Given the description of an element on the screen output the (x, y) to click on. 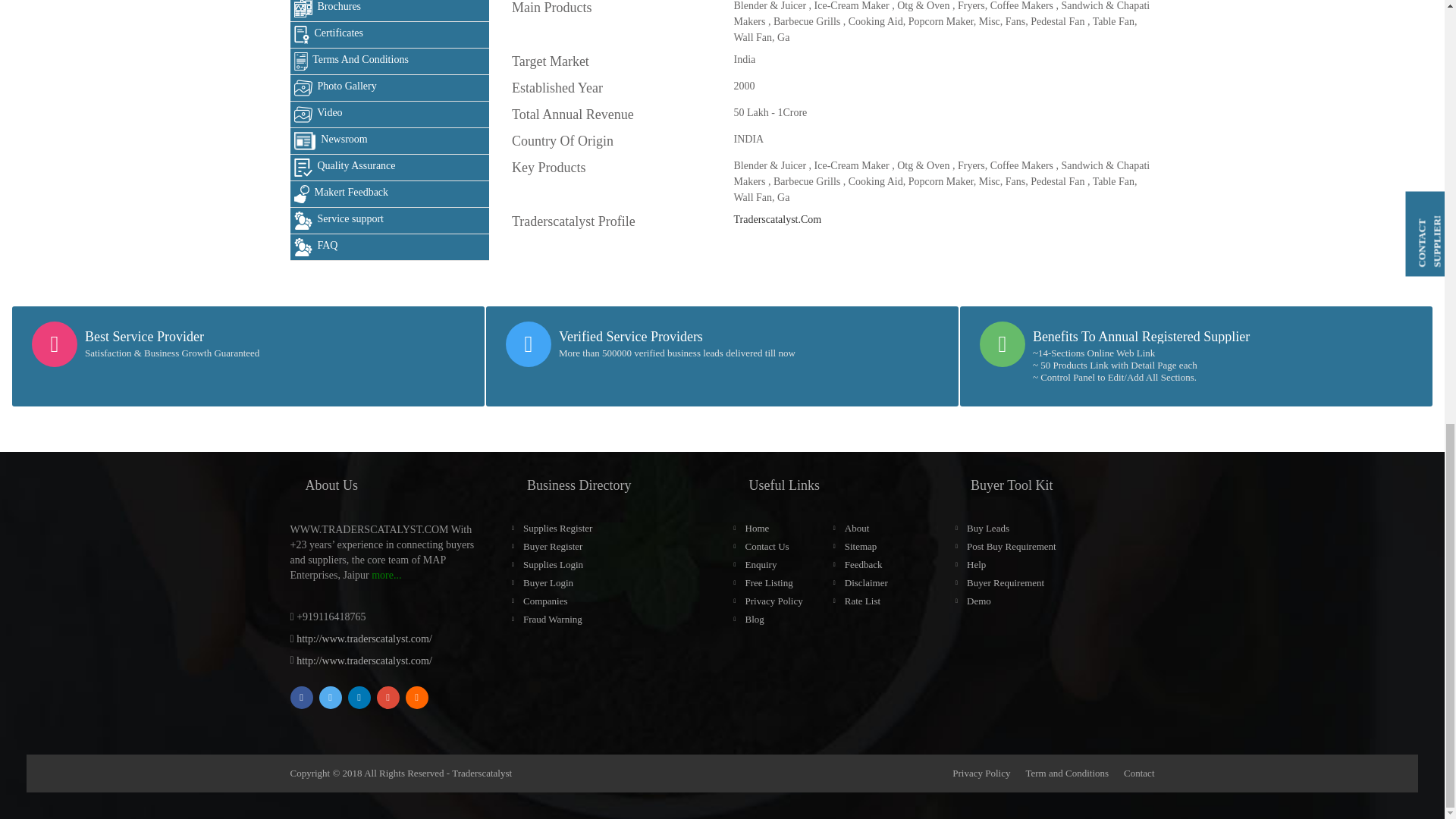
  Newsroom (389, 140)
  Video (389, 114)
  Certificates (389, 35)
  Service support (389, 221)
  Photo Gallery (389, 88)
  Terms And Conditions (389, 61)
more... (386, 574)
  Quality Assurance (389, 167)
  Brochures (389, 11)
Traderscatalyst.Com (777, 219)
  FAQ (389, 247)
  Makert Feedback (389, 194)
